Given the description of an element on the screen output the (x, y) to click on. 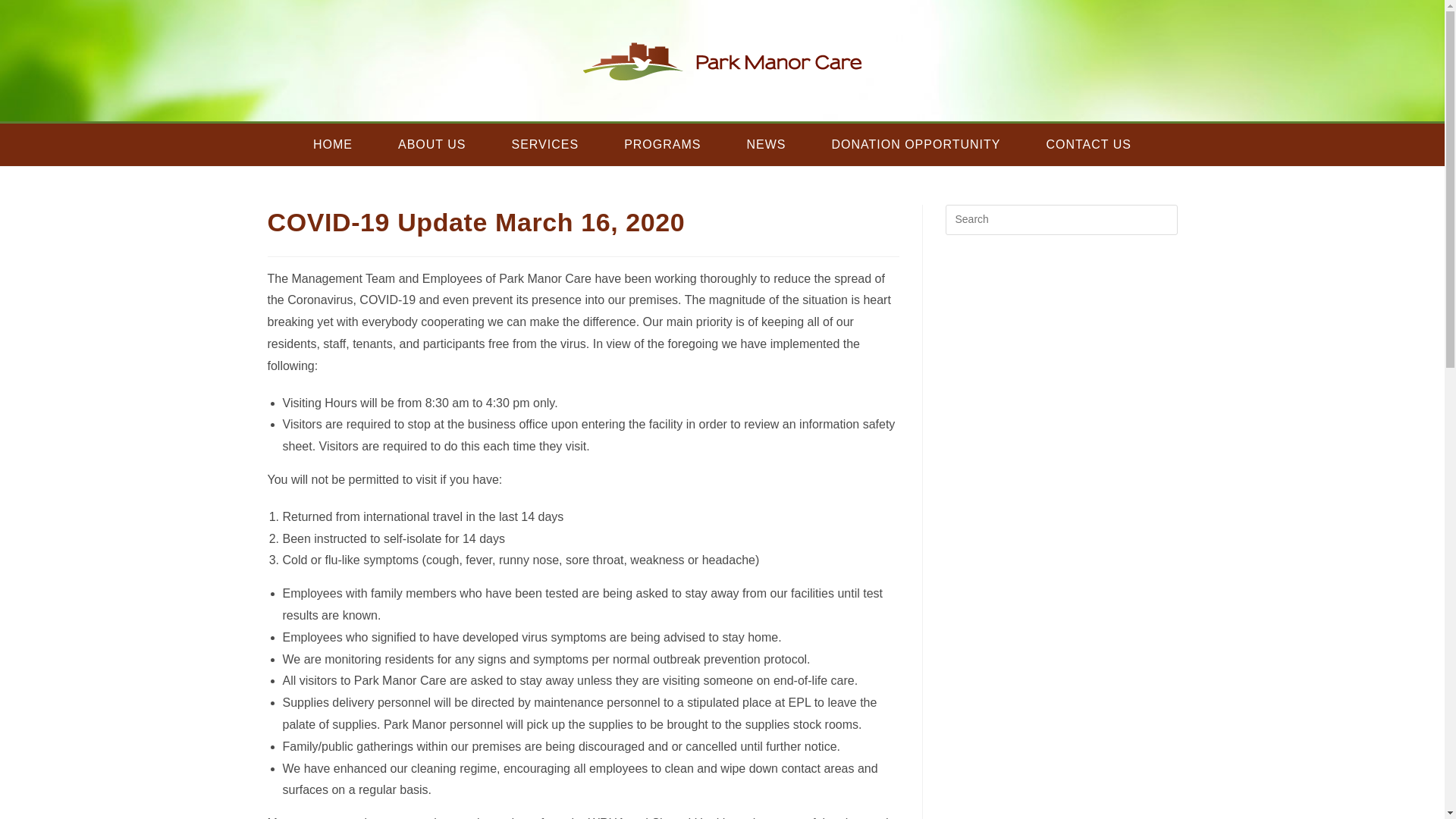
ABOUT US (432, 144)
SERVICES (544, 144)
NEWS (765, 144)
HOME (332, 144)
CONTACT US (1088, 144)
DONATION OPPORTUNITY (915, 144)
PROGRAMS (662, 144)
